Given the description of an element on the screen output the (x, y) to click on. 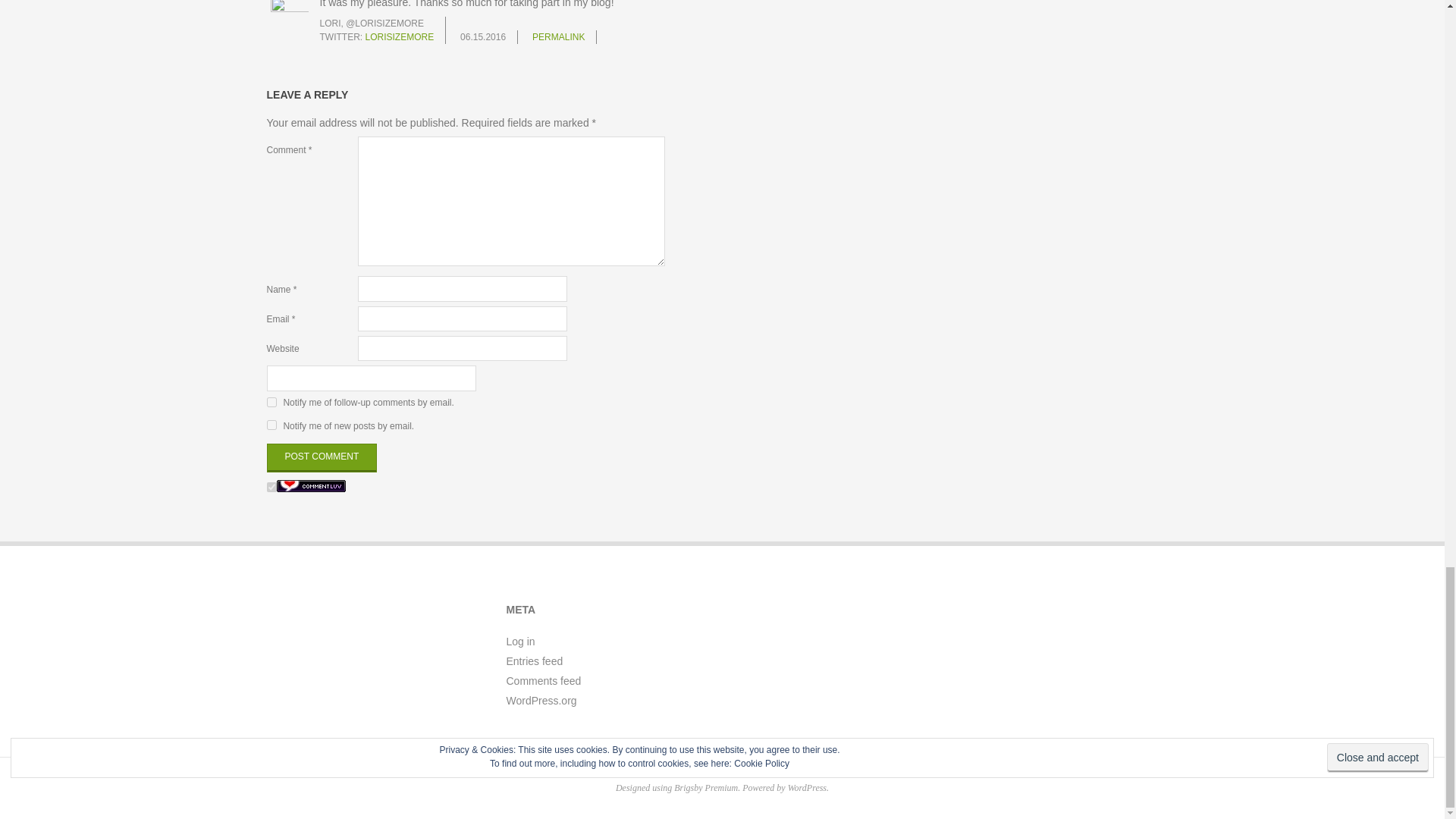
Post Comment (321, 457)
subscribe (271, 424)
on (271, 487)
subscribe (271, 402)
